Given the description of an element on the screen output the (x, y) to click on. 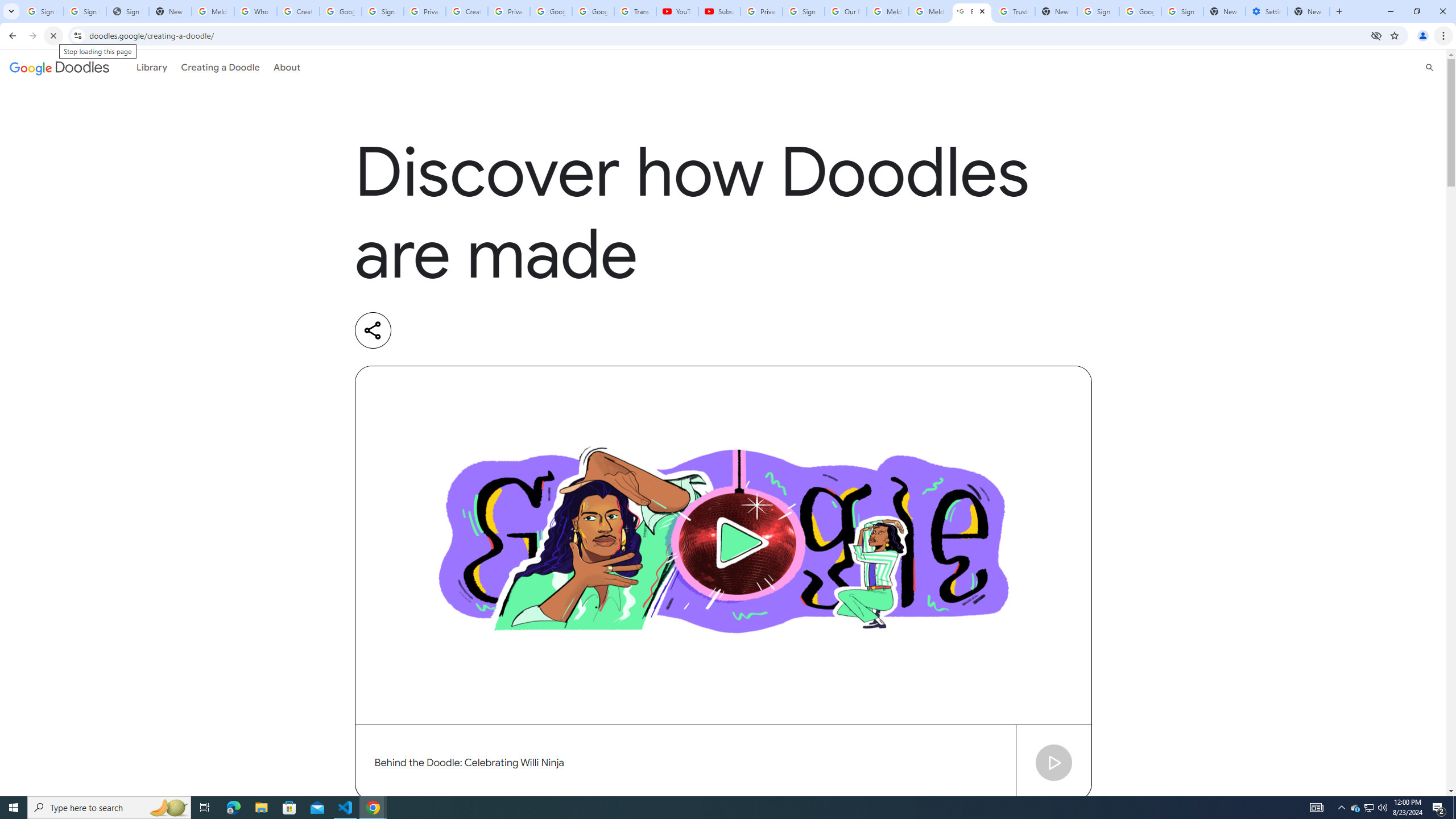
Explore the Process of Creating a Doodle - Google Doodles (972, 11)
Subscriptions - YouTube (719, 11)
Google Account (592, 11)
Google Cybersecurity Innovations - Google Safety Center (1139, 11)
Sign In - USA TODAY (127, 11)
Sign in - Google Accounts (42, 11)
YouTube (676, 11)
Sign in - Google Accounts (803, 11)
